Given the description of an element on the screen output the (x, y) to click on. 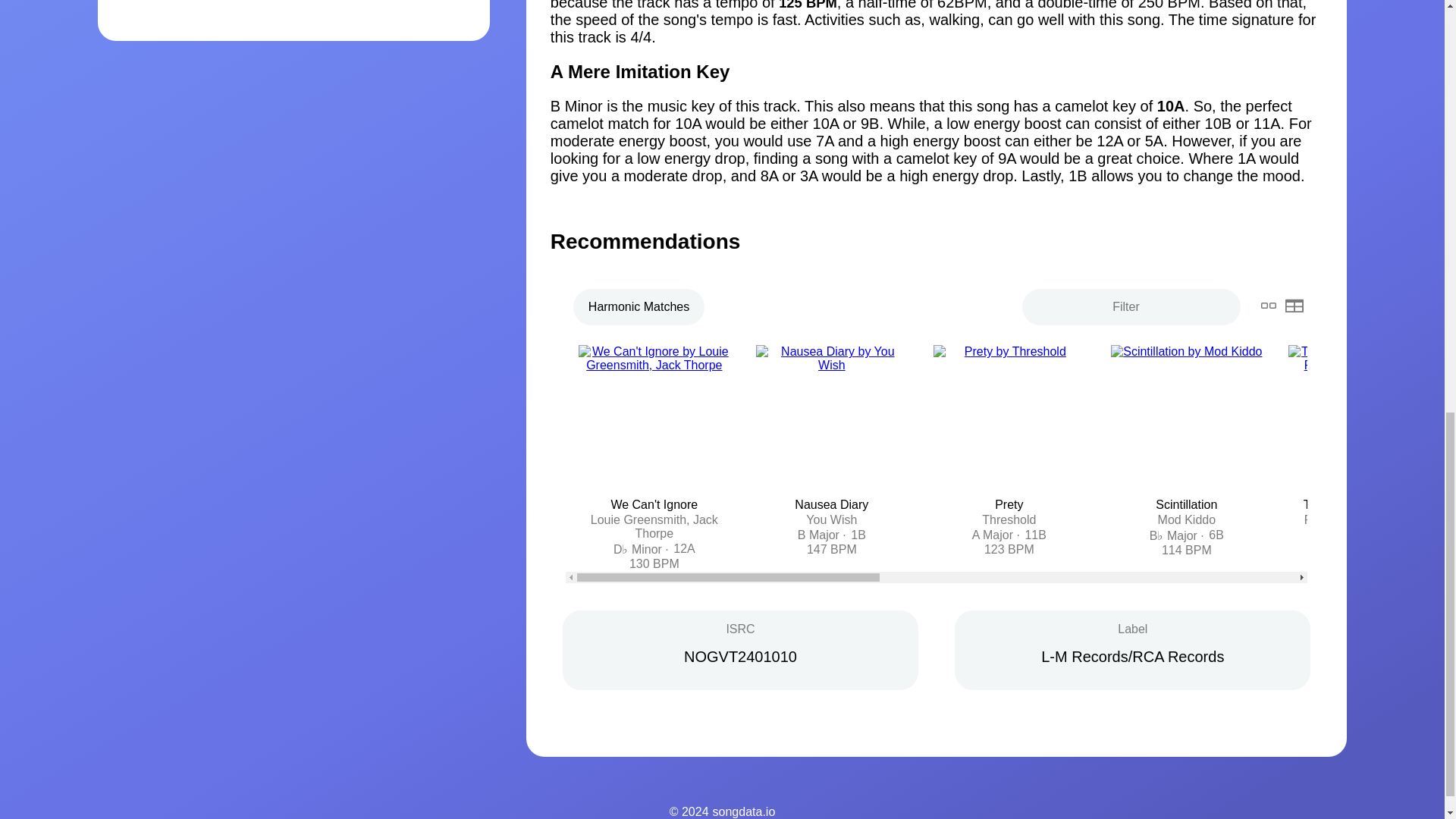
Scintillation (1186, 504)
Prety (1008, 504)
We Can't Ignore (653, 504)
Nausea Diary (830, 504)
125 BPM (807, 5)
